Given the description of an element on the screen output the (x, y) to click on. 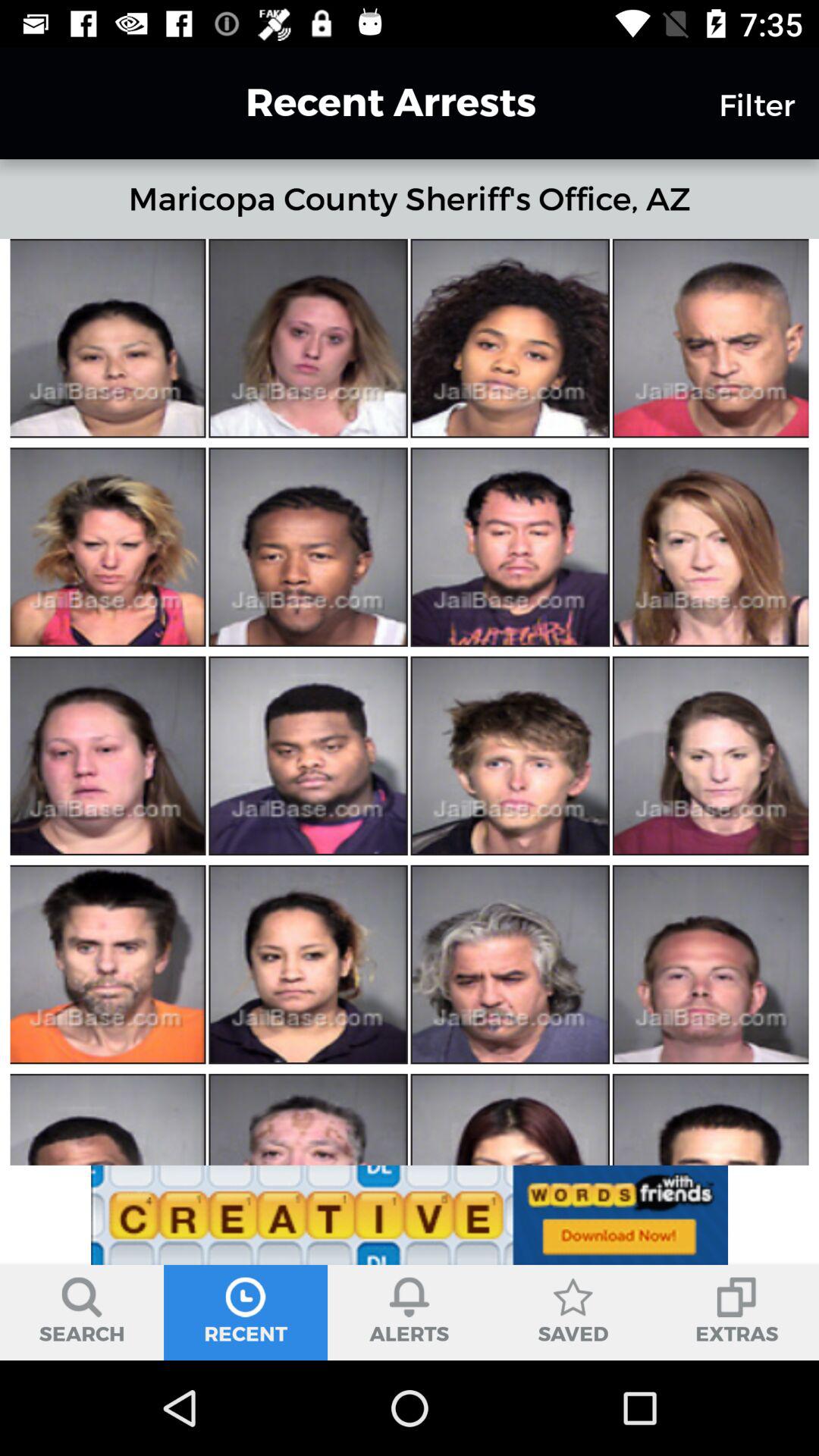
open the       recent arrests icon (363, 102)
